Given the description of an element on the screen output the (x, y) to click on. 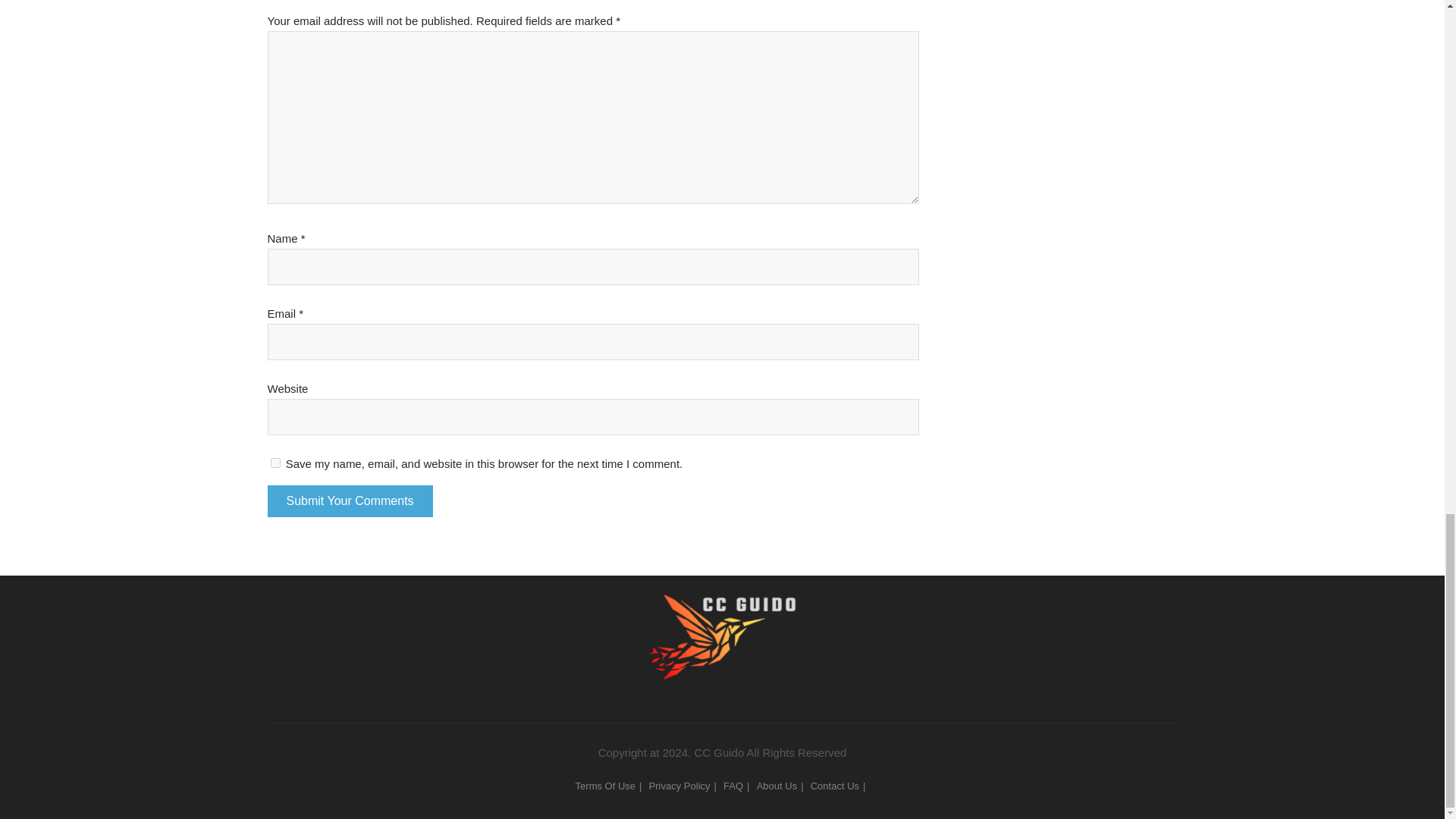
CC Guido (722, 609)
yes (274, 462)
Submit Your Comments (349, 500)
